Given the description of an element on the screen output the (x, y) to click on. 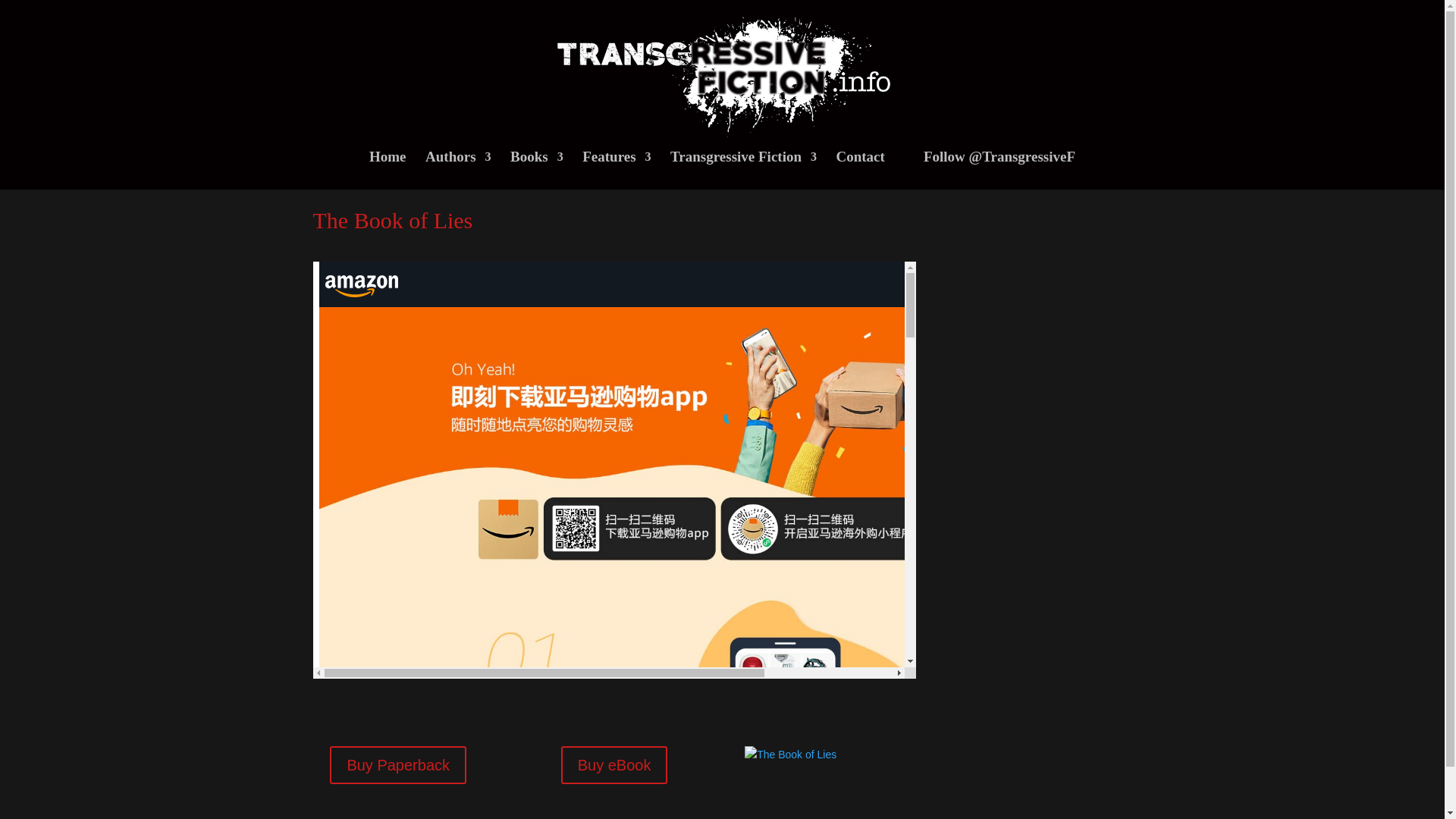
Home (387, 170)
Buy eBook (614, 764)
Authors (458, 170)
Features (616, 170)
Books (537, 170)
Contact (859, 170)
Transgressive Fiction (742, 170)
Buy Paperback (397, 764)
